Given the description of an element on the screen output the (x, y) to click on. 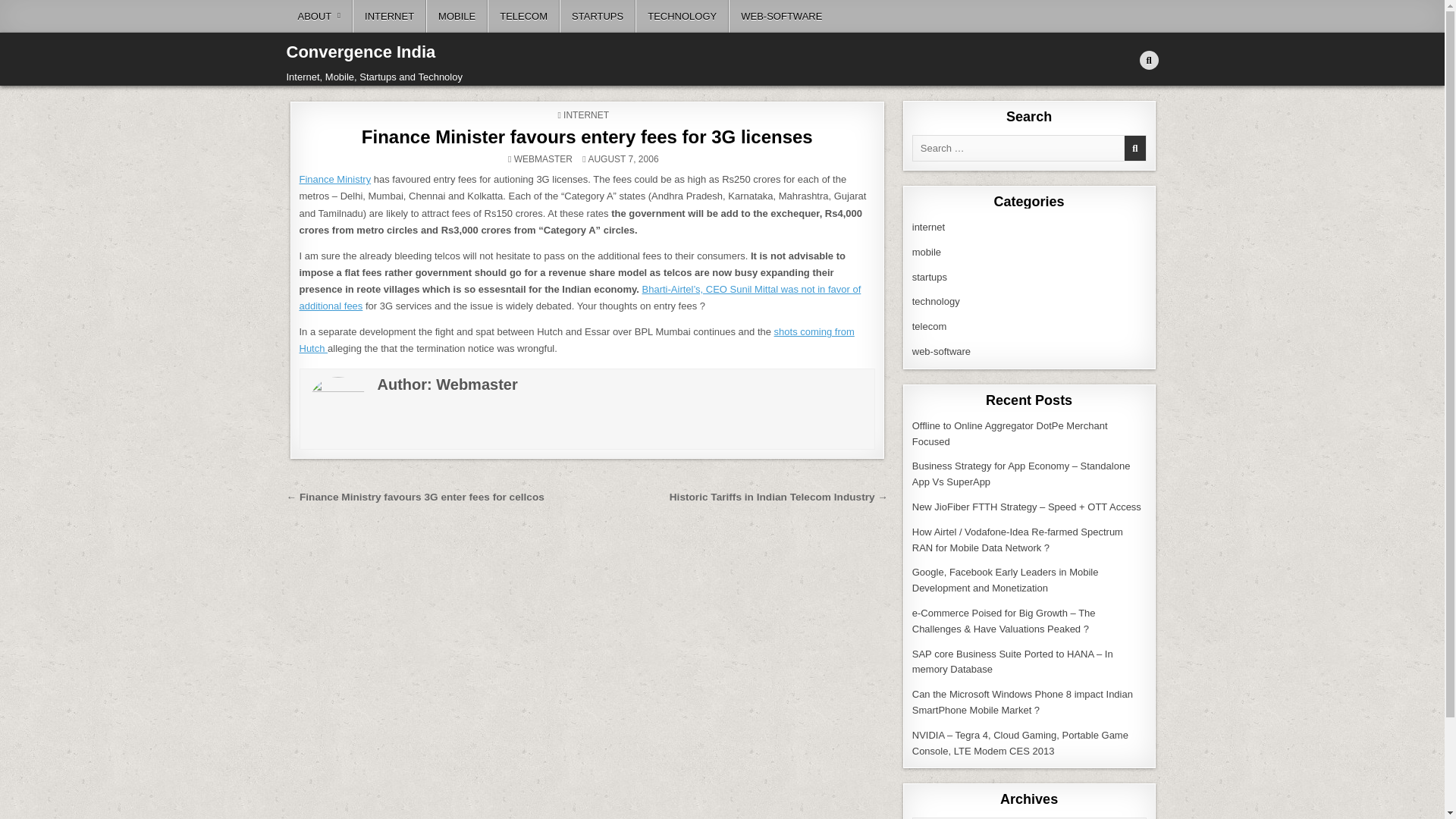
Finance Minister favours entery fees for 3G licenses (586, 136)
TECHNOLOGY (681, 16)
ABOUT (319, 16)
Finance Ministry (334, 179)
Search (1148, 60)
technology (935, 301)
Offline to Online Aggregator DotPe Merchant Focused (1010, 433)
mobile (926, 251)
Research and Analysis on the Indian Internet and Broadband  (928, 226)
WEB-SOFTWARE (780, 16)
Convergence India (360, 51)
MOBILE (456, 16)
WEBMASTER (542, 158)
